Given the description of an element on the screen output the (x, y) to click on. 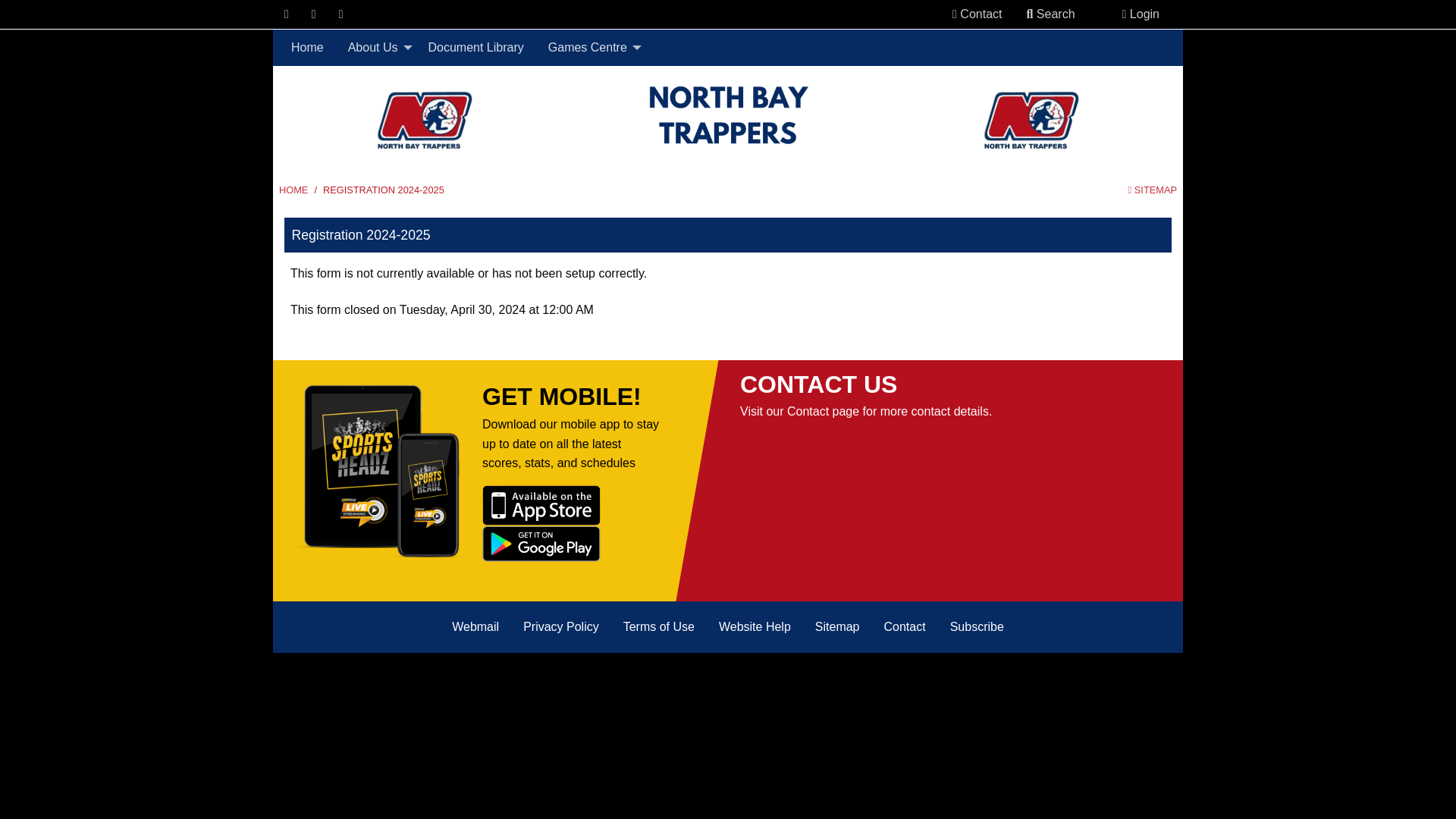
Contact (904, 626)
Subscribe (976, 626)
Main Home Page (293, 189)
Privacy Policy (561, 626)
Go to the sitemap page for this website (1152, 189)
 SITEMAP (1152, 189)
 Contact (976, 14)
Document Library (474, 47)
About Us (376, 47)
HOME (293, 189)
Download the Sportsheadz App from the Google Play Store (540, 542)
Website Help (754, 626)
 Login (1140, 14)
Sitemap (837, 626)
Download the Sportsheadz App from the Apple App Store (540, 503)
